Given the description of an element on the screen output the (x, y) to click on. 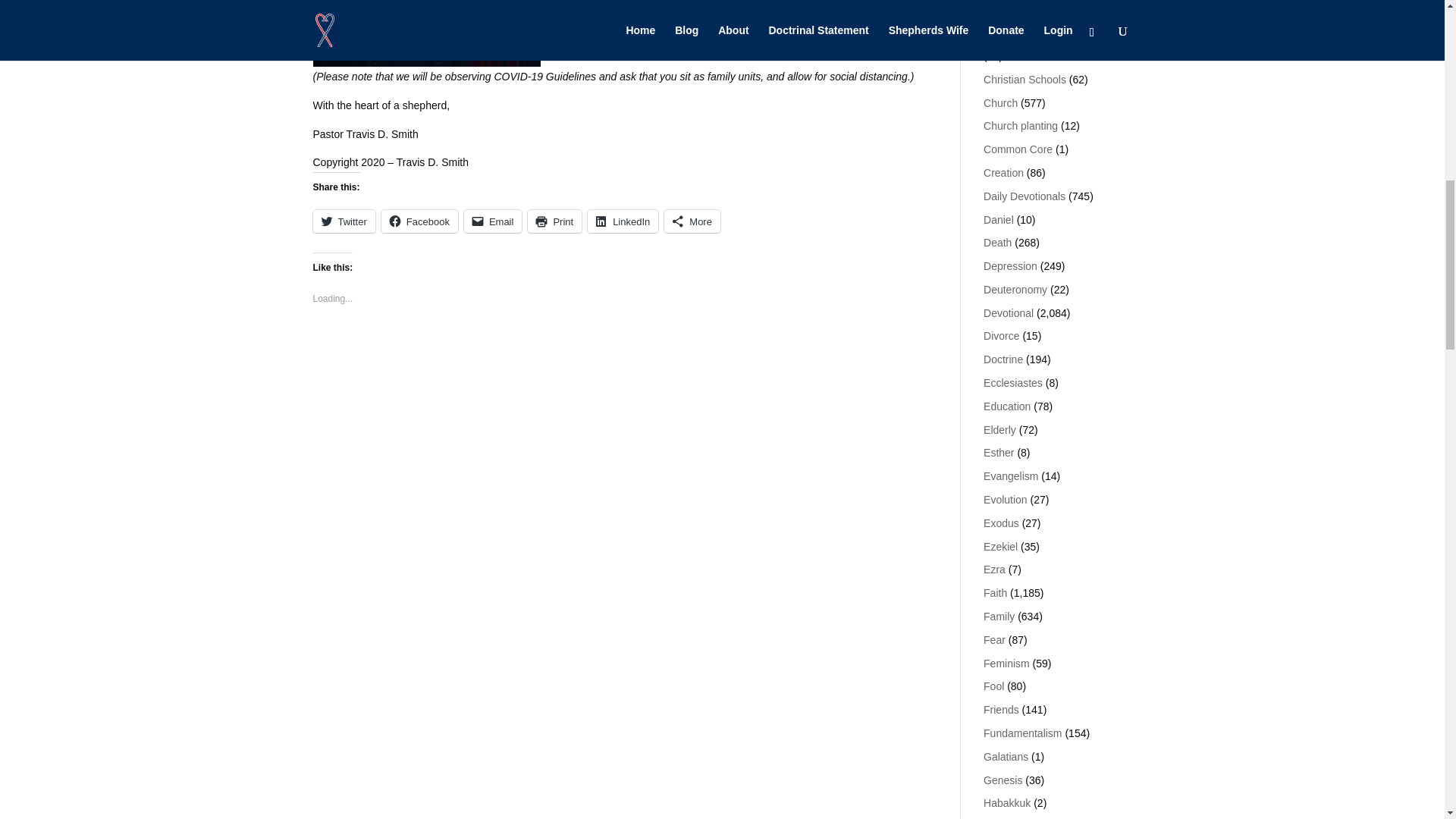
Click to share on Twitter (343, 220)
Click to print (553, 220)
More (691, 220)
Print (553, 220)
Click to share on Facebook (419, 220)
LinkedIn (623, 220)
Twitter (343, 220)
Click to email a link to a friend (493, 220)
Email (493, 220)
Click to share on LinkedIn (623, 220)
